Given the description of an element on the screen output the (x, y) to click on. 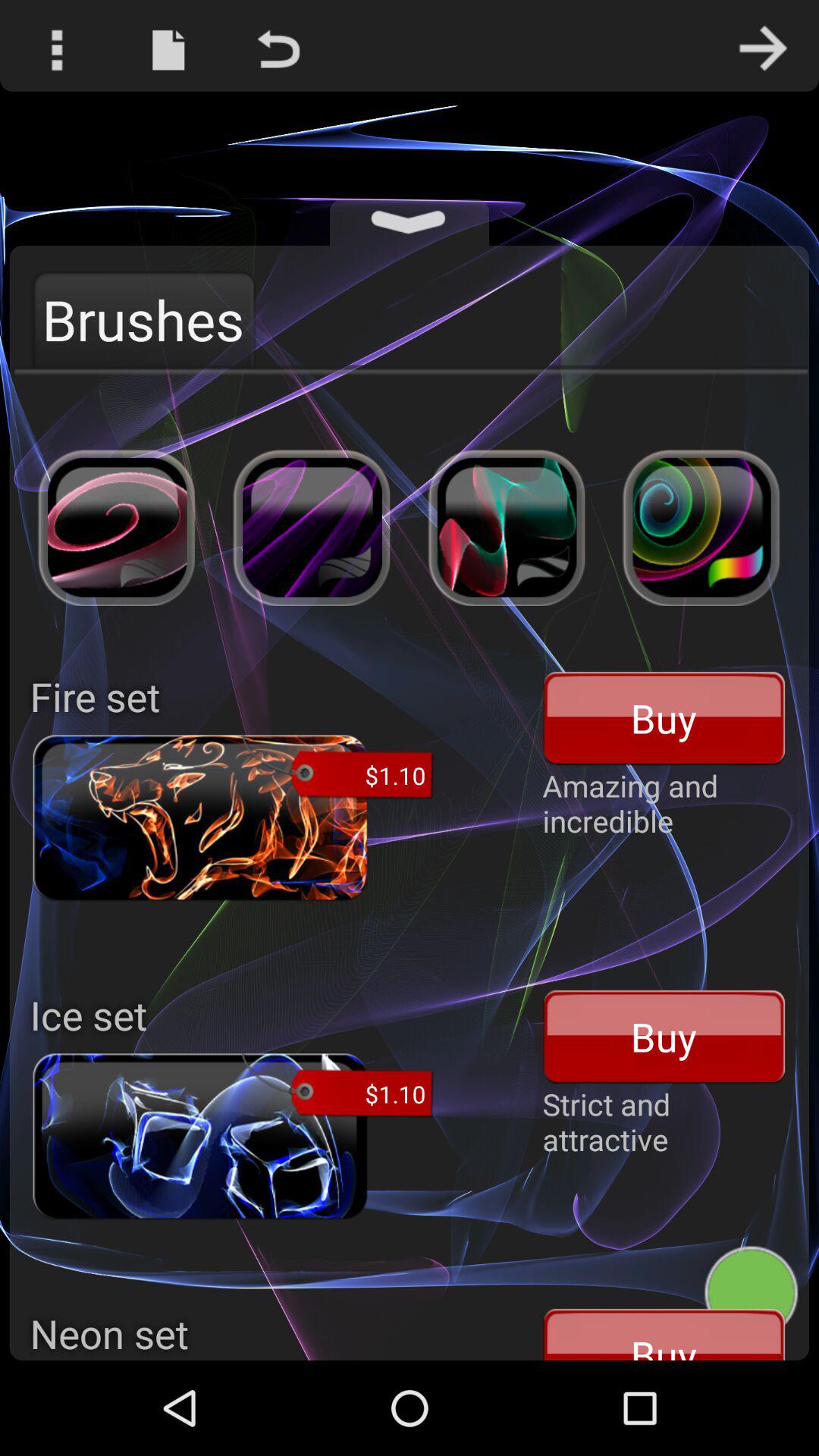
go to first image (117, 527)
click the more options icon (55, 45)
select buy at right side of neon set (664, 1333)
click on money tag icon of text ice set (337, 1086)
click on the buy which is beside fire set (664, 717)
select the button which is at top right corner of page (763, 45)
